Given the description of an element on the screen output the (x, y) to click on. 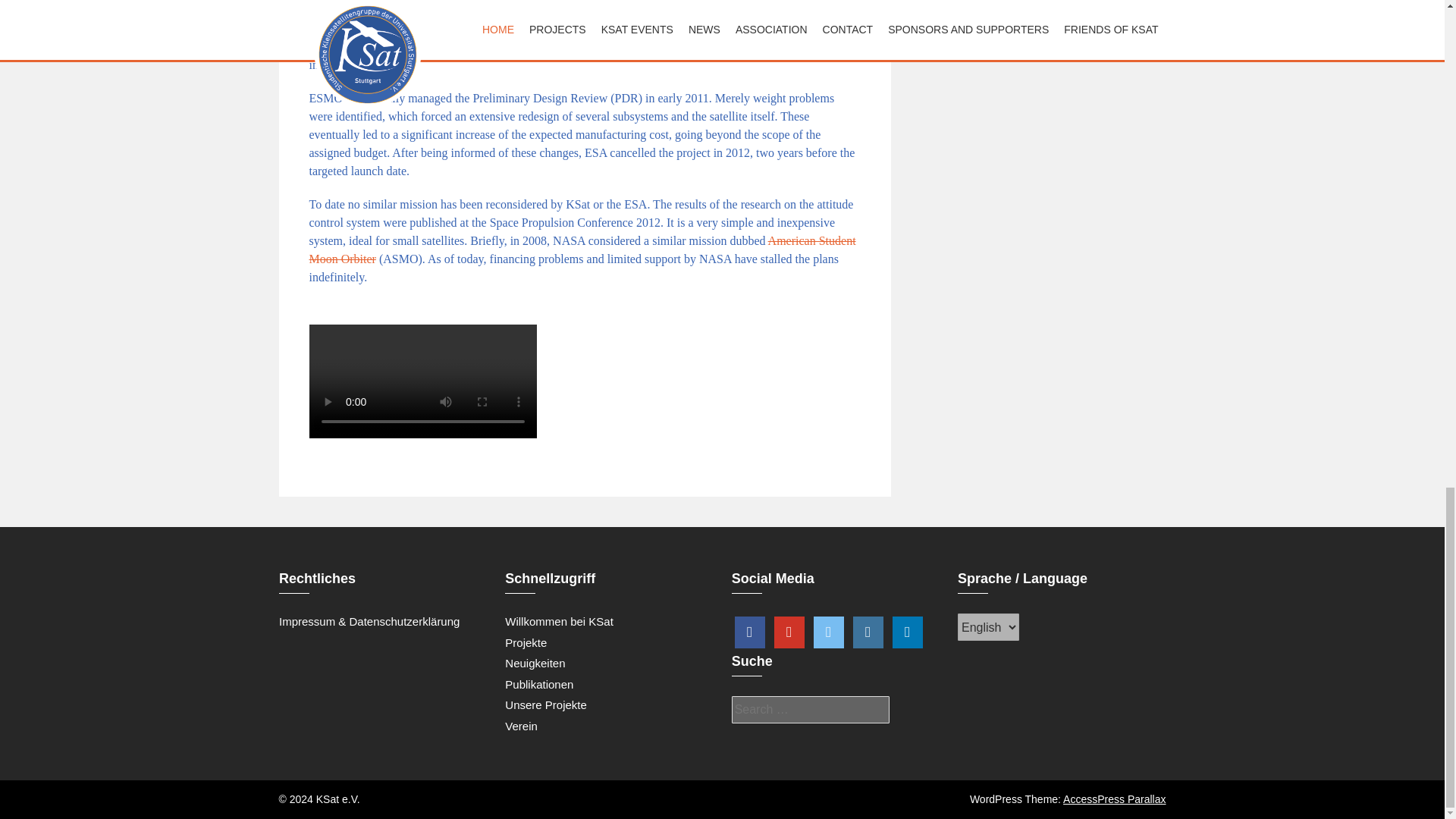
KSat auf YouTube (789, 632)
AccessPress Parallax (1114, 799)
KSat auf LinkedIn (907, 632)
Willkommen bei KSat (558, 621)
Unsere Projekte (545, 704)
KSat auf Instagram (868, 632)
WordPress Free Themes (1114, 799)
KSat auf Twitter (828, 632)
American Student Moon Orbiter (582, 249)
Neuigkeiten (534, 662)
Verein (521, 725)
Projekte (526, 642)
Surrey Satellite Technologie Ltd (556, 19)
KSat auf Facebook (750, 632)
